Given the description of an element on the screen output the (x, y) to click on. 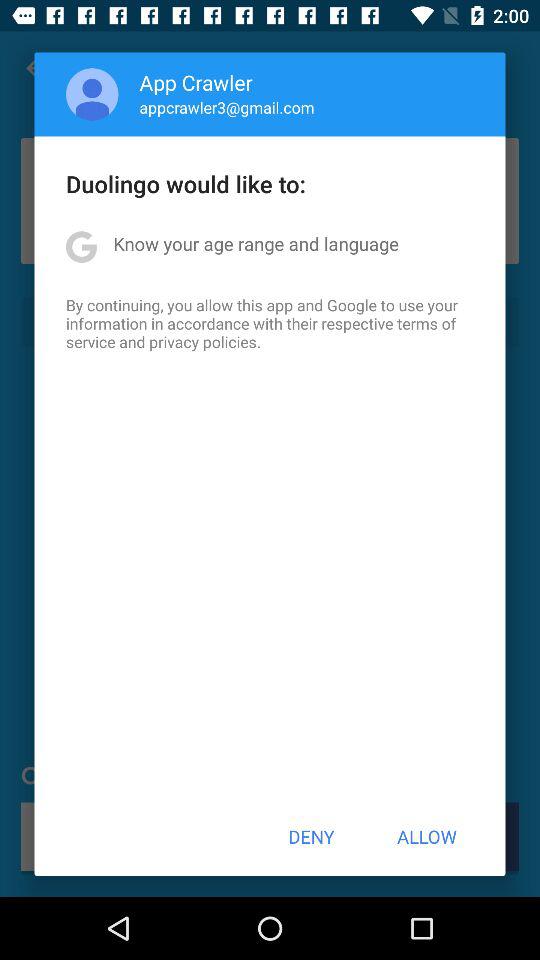
launch the item below duolingo would like app (255, 243)
